Given the description of an element on the screen output the (x, y) to click on. 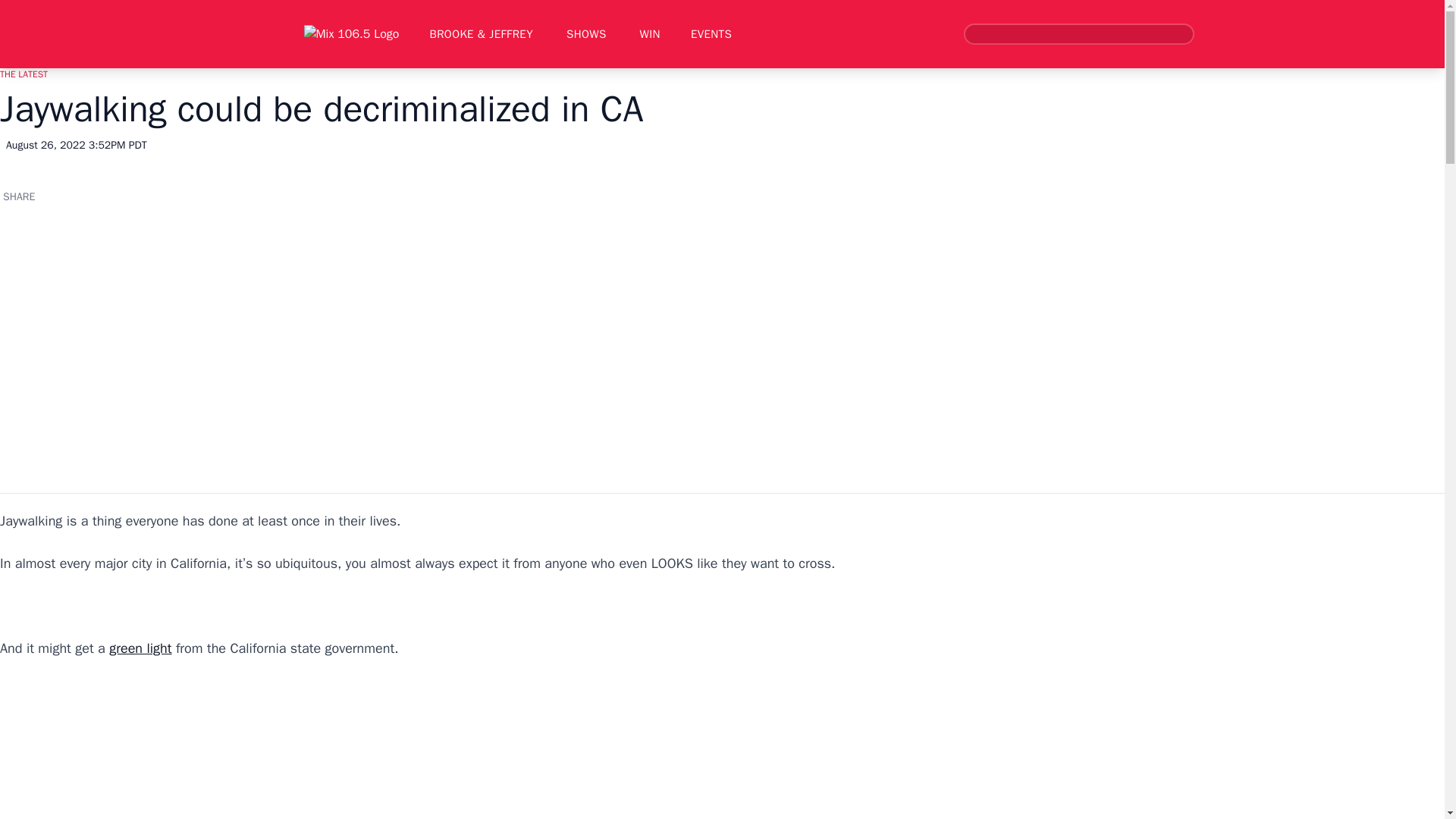
YouTube video player (212, 748)
California lawmaker wants to decriminalize jaywalking (242, 340)
